Given the description of an element on the screen output the (x, y) to click on. 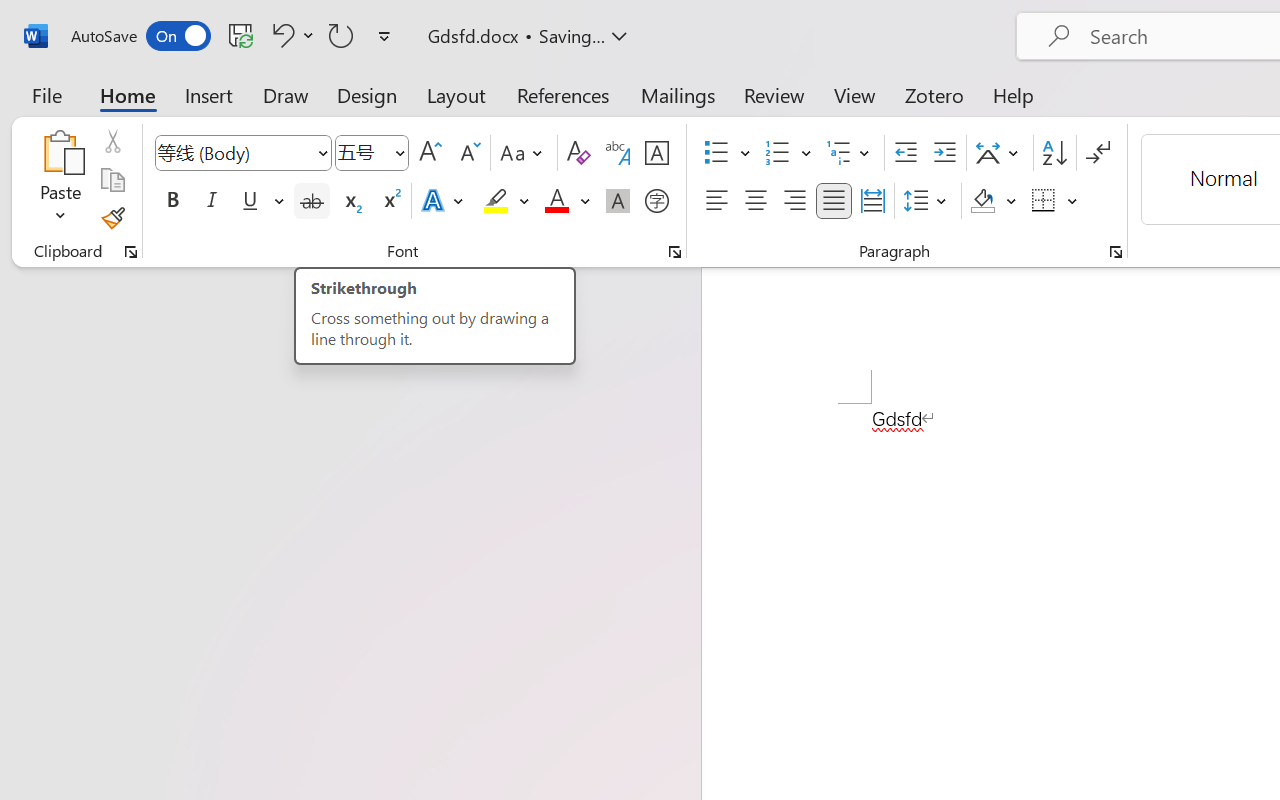
Shading RGB(0, 0, 0) (982, 201)
Sort... (1054, 153)
Text Effects and Typography (444, 201)
Decrease Indent (906, 153)
Line and Paragraph Spacing (927, 201)
